Given the description of an element on the screen output the (x, y) to click on. 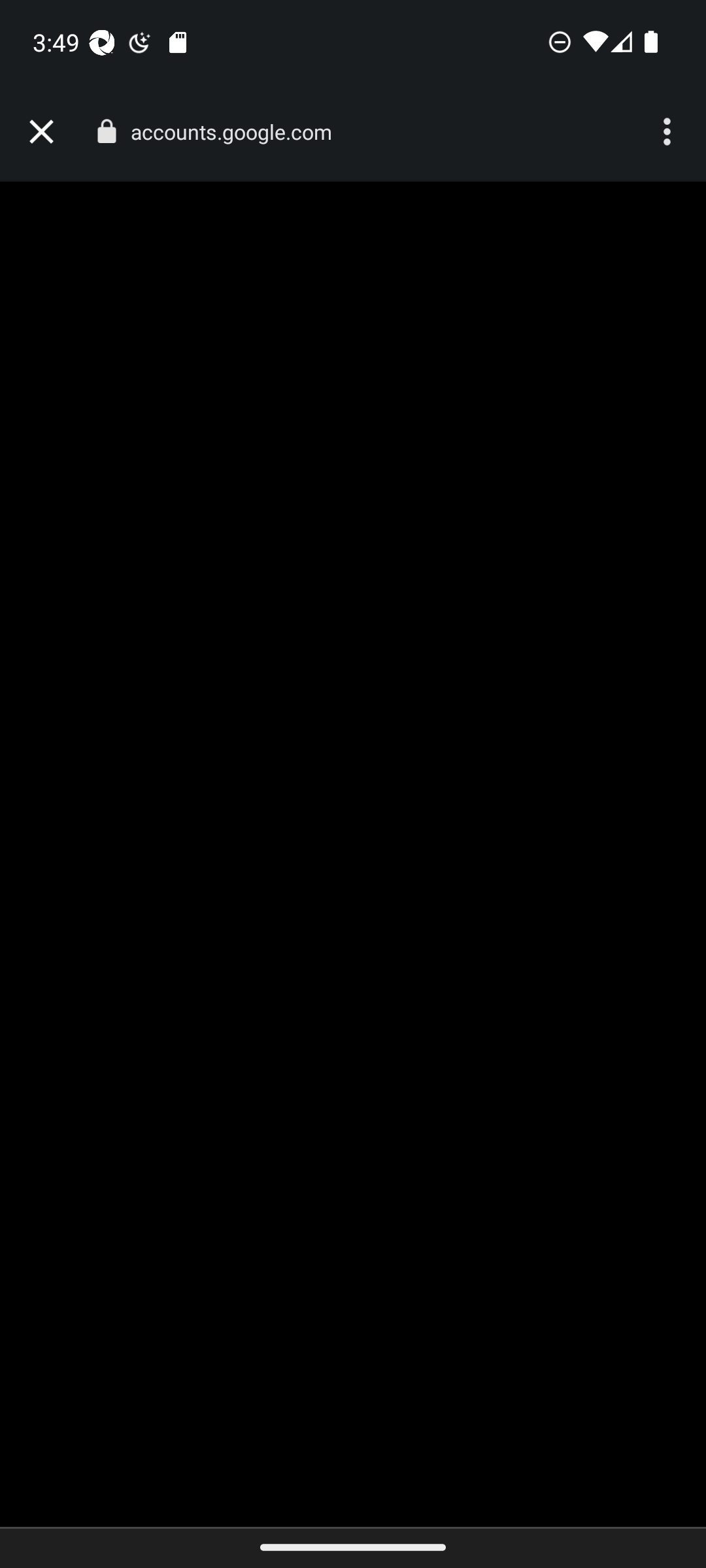
Close tab (41, 131)
More options (669, 131)
Connection is secure (106, 131)
accounts.google.com (237, 131)
